Given the description of an element on the screen output the (x, y) to click on. 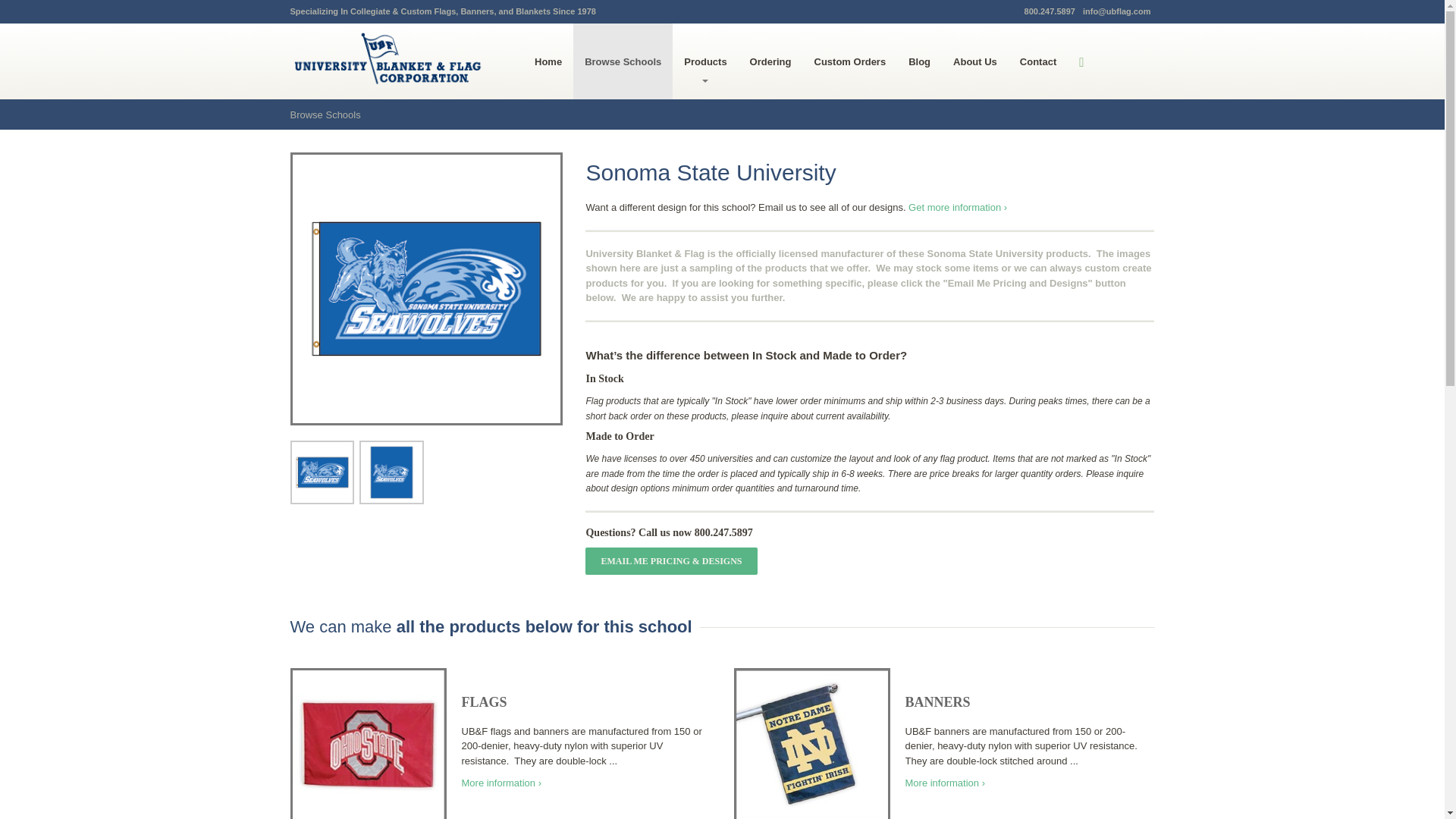
Ordering (770, 60)
Custom Orders (850, 60)
3'x5' DuraWave Flag (321, 472)
About Us (975, 60)
Products (705, 60)
Browse Schools (622, 60)
Browse Schools (324, 114)
Home (547, 60)
Contact (1038, 60)
Blog (919, 60)
3'x5' DuraWave Flag (425, 288)
Garden Flag (391, 472)
